Given the description of an element on the screen output the (x, y) to click on. 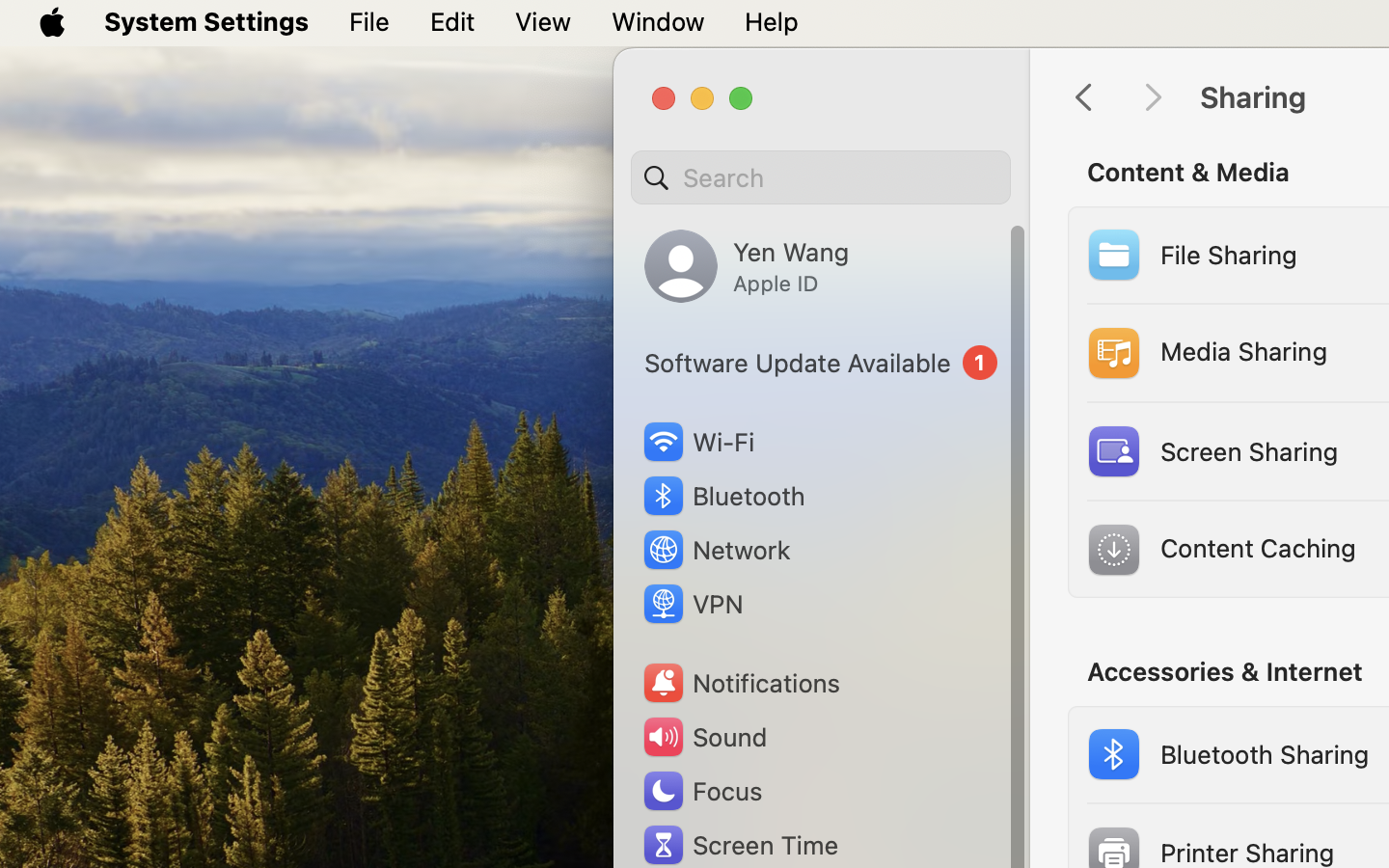
Wi‑Fi Element type: AXStaticText (697, 441)
Media Sharing Element type: AXStaticText (1204, 352)
Bluetooth Sharing Element type: AXStaticText (1224, 754)
Focus Element type: AXStaticText (701, 790)
Sound Element type: AXStaticText (703, 736)
